Given the description of an element on the screen output the (x, y) to click on. 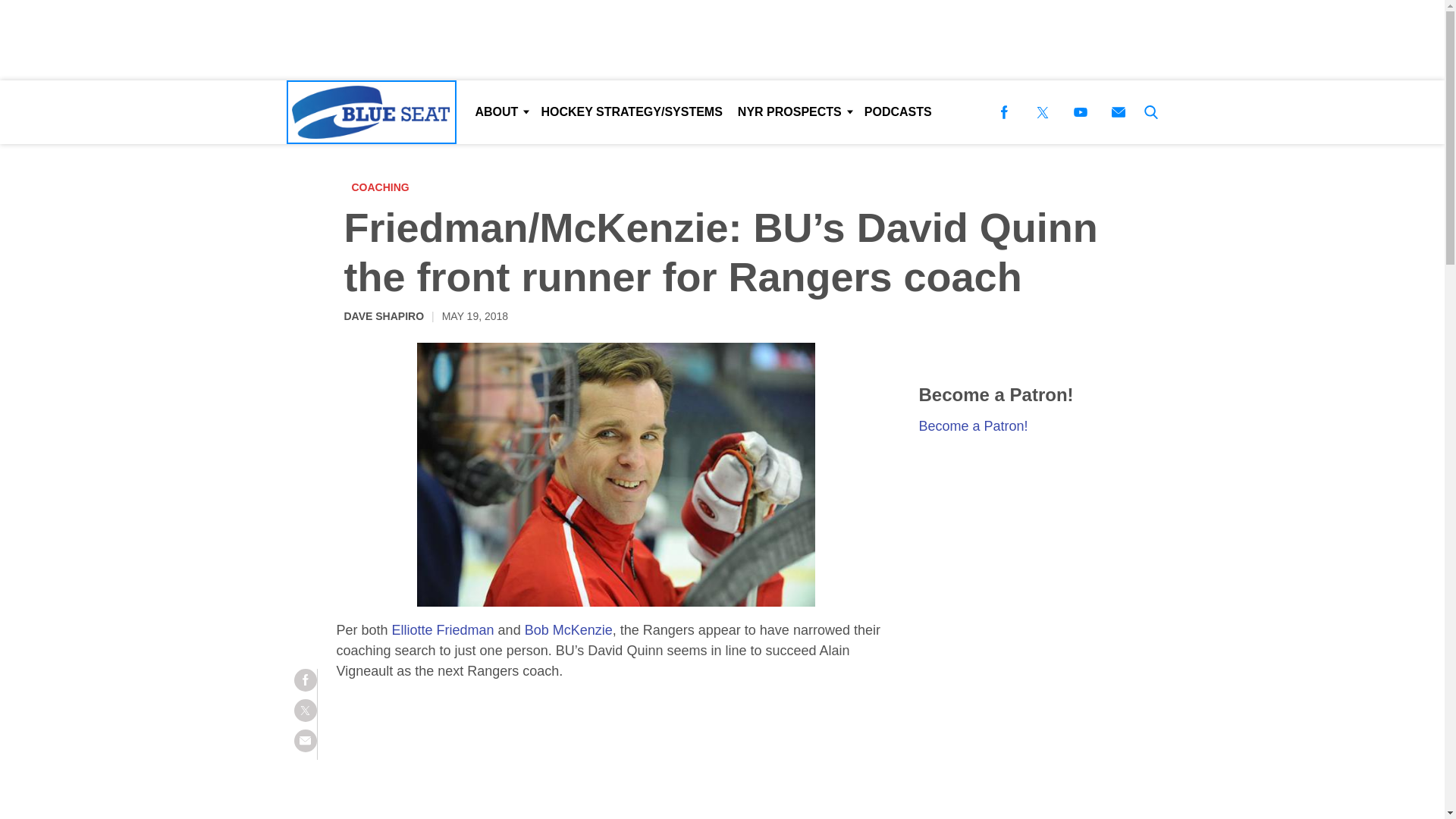
ABOUT (499, 112)
Follow us on Facebook (1004, 112)
COACHING (384, 187)
Share on Facebook (305, 680)
Bob McKenzie (568, 630)
PODCASTS (898, 112)
NYR PROSPECTS (793, 112)
Send us an email (1118, 112)
Posts by Dave Shapiro (384, 315)
Follow us on Twitter (1042, 112)
Subscribe to our YouTube channel (1080, 112)
Share via Email (305, 740)
Elliotte Friedman (443, 630)
Share on Twitter (305, 710)
DAVE SHAPIRO (384, 315)
